Given the description of an element on the screen output the (x, y) to click on. 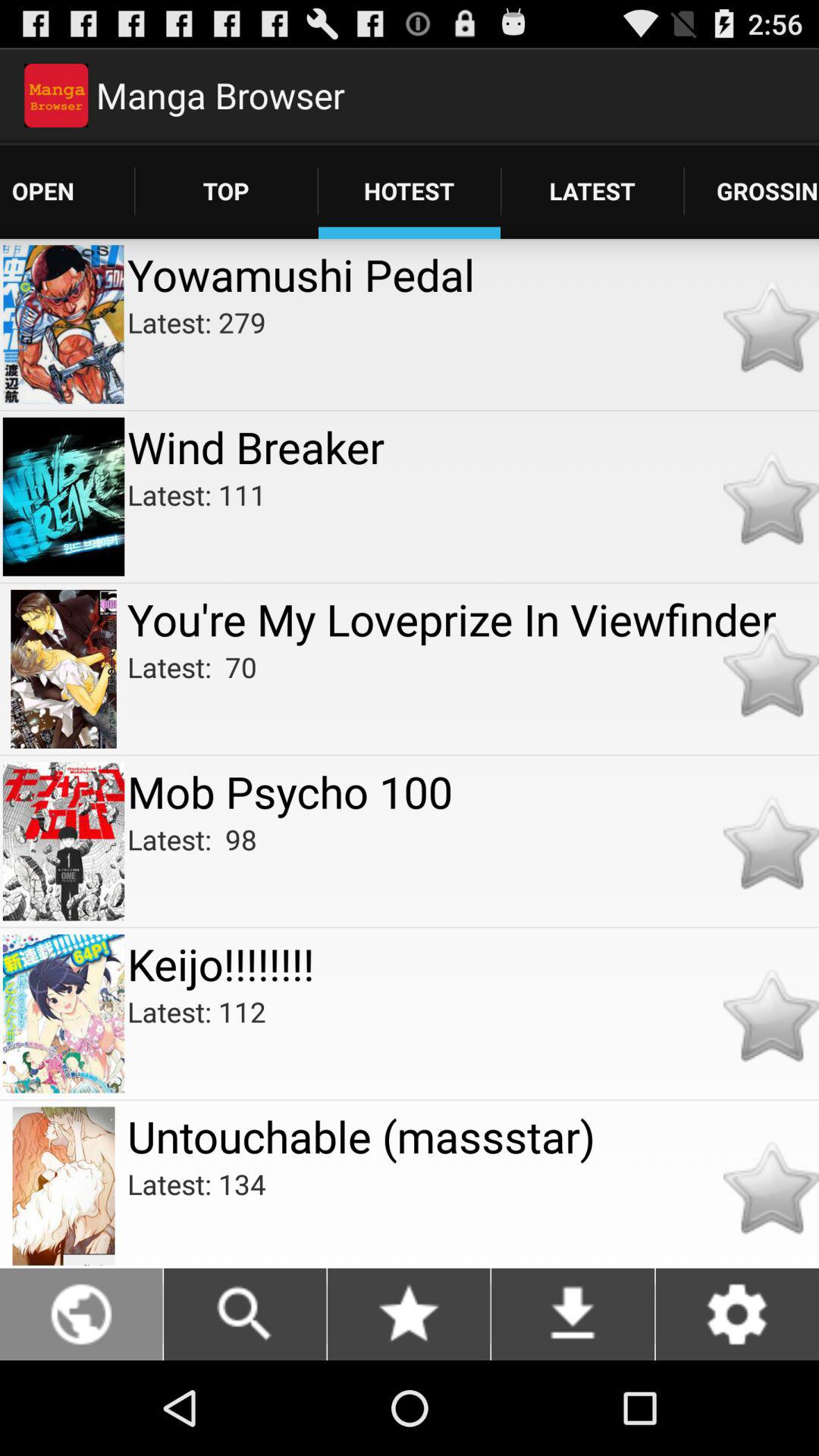
open the yowamushi pedal (473, 274)
